Given the description of an element on the screen output the (x, y) to click on. 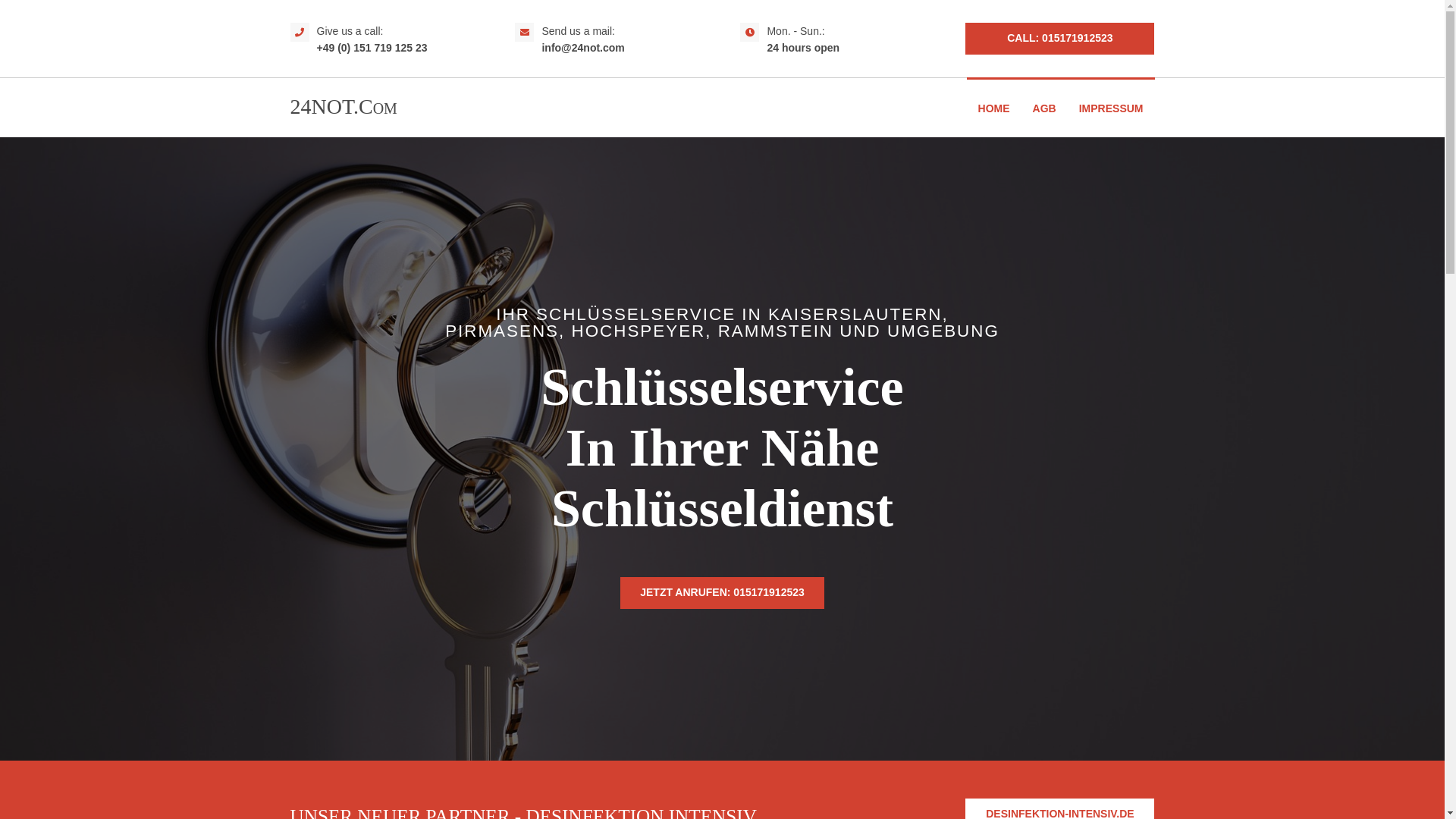
IMPRESSUM Element type: text (1110, 107)
24NOT.Com Element type: text (342, 106)
AGB Element type: text (1044, 107)
JETZT ANRUFEN: 015171912523 Element type: text (722, 592)
HOME Element type: text (993, 107)
CALL: 015171912523 Element type: text (1059, 38)
